Given the description of an element on the screen output the (x, y) to click on. 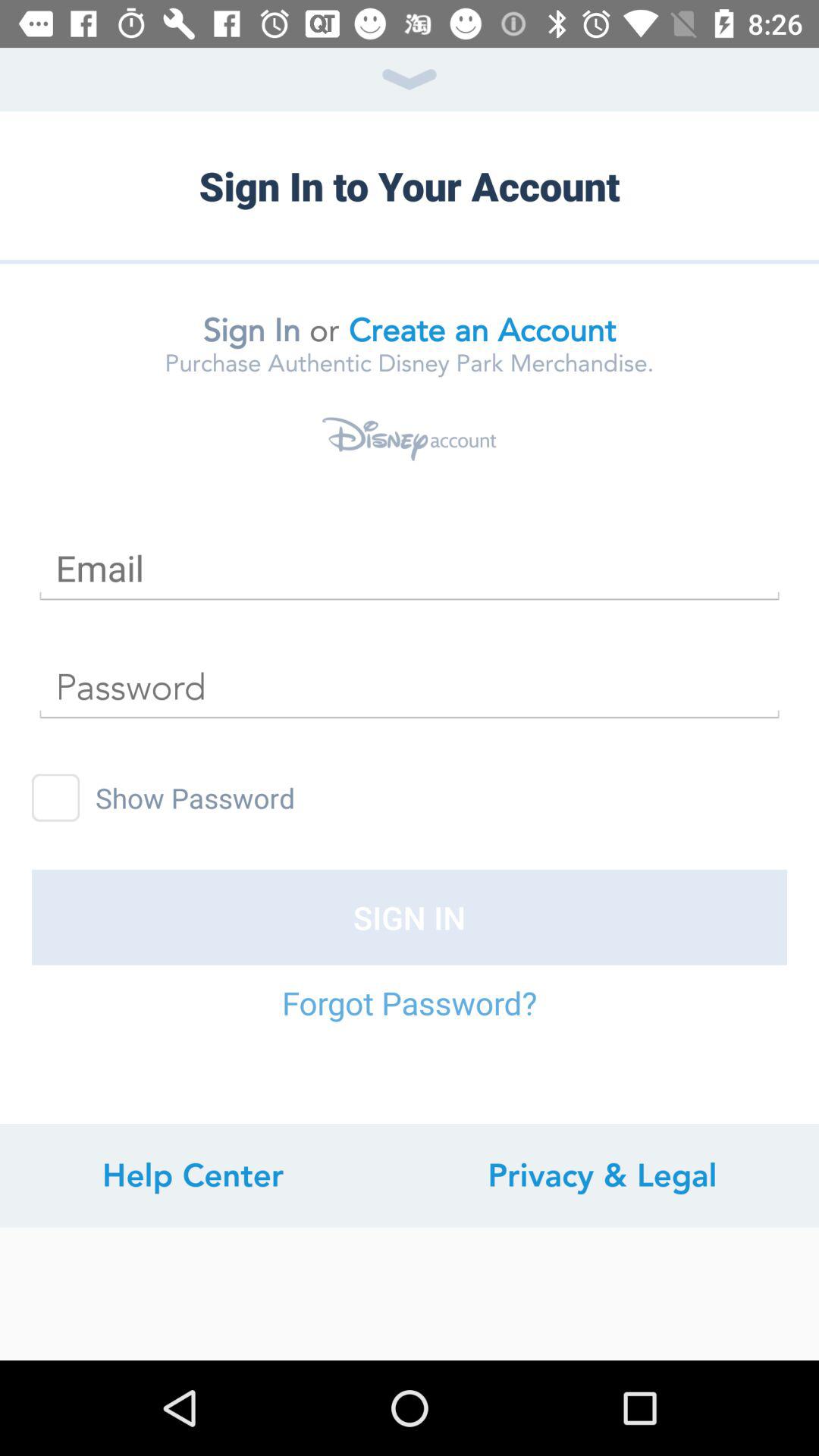
turn on the item next to  or  icon (481, 330)
